Given the description of an element on the screen output the (x, y) to click on. 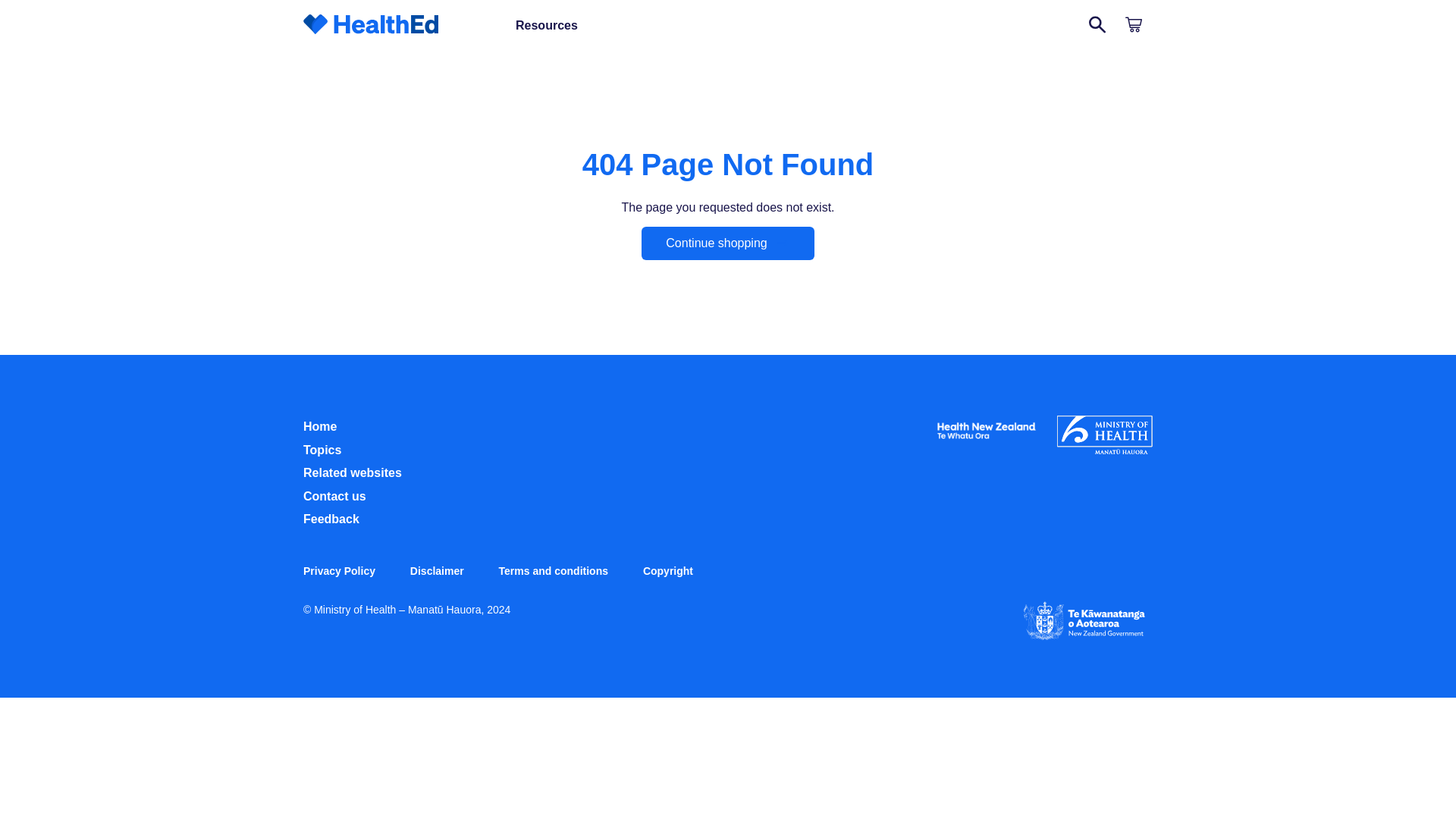
Topics (321, 449)
Health Promotion Agency - Te Hiringa Hauora (986, 441)
Submit (1098, 25)
Cart (1134, 25)
Disclaimer (437, 571)
Feedback (330, 518)
Contact us (334, 495)
Home (319, 426)
Resources (546, 25)
Related websites (351, 472)
